Given the description of an element on the screen output the (x, y) to click on. 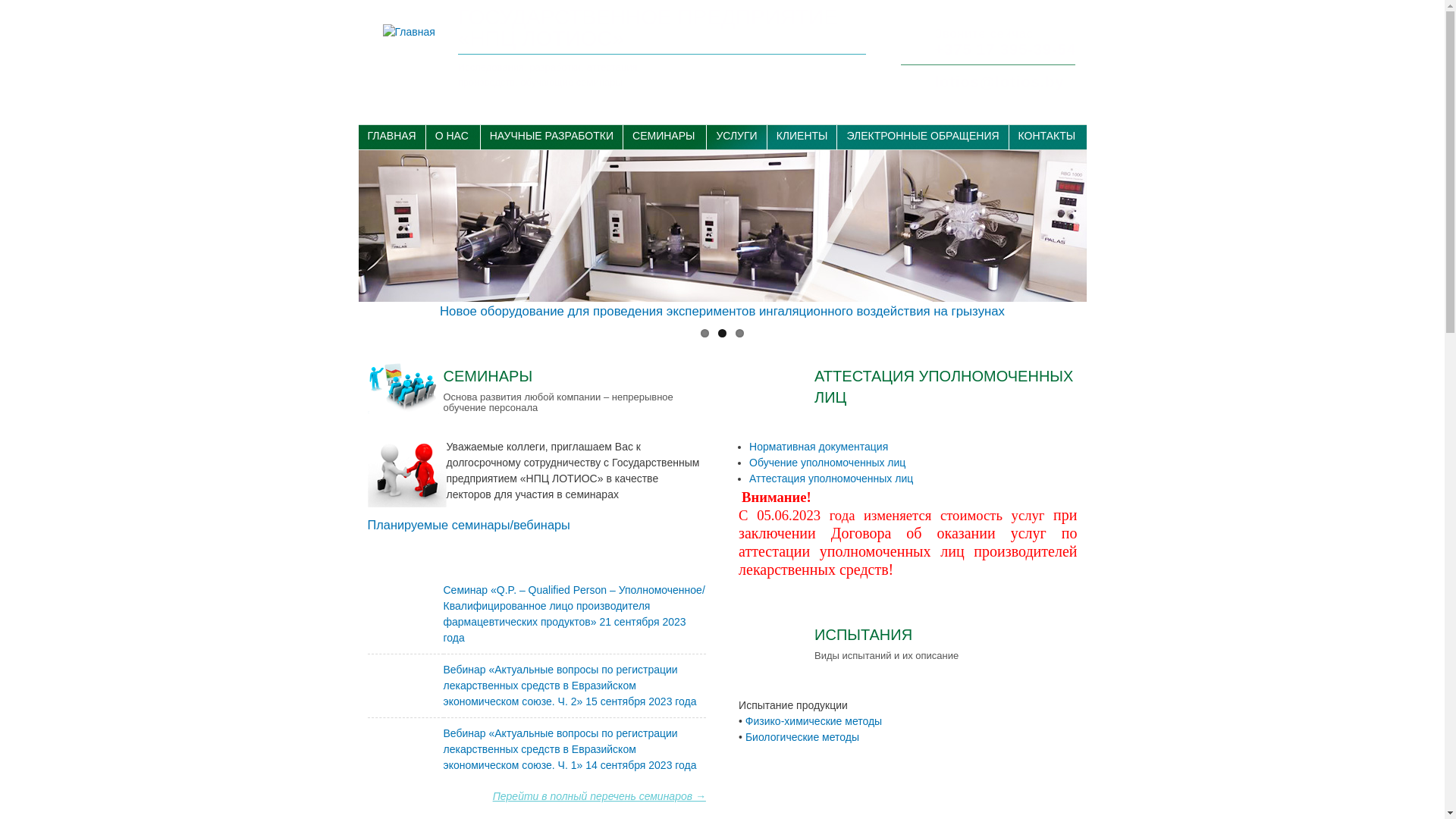
3 Element type: text (739, 333)
lotios@lotios.by Element type: text (998, 82)
2 Element type: text (722, 333)
1 Element type: text (704, 333)
